Given the description of an element on the screen output the (x, y) to click on. 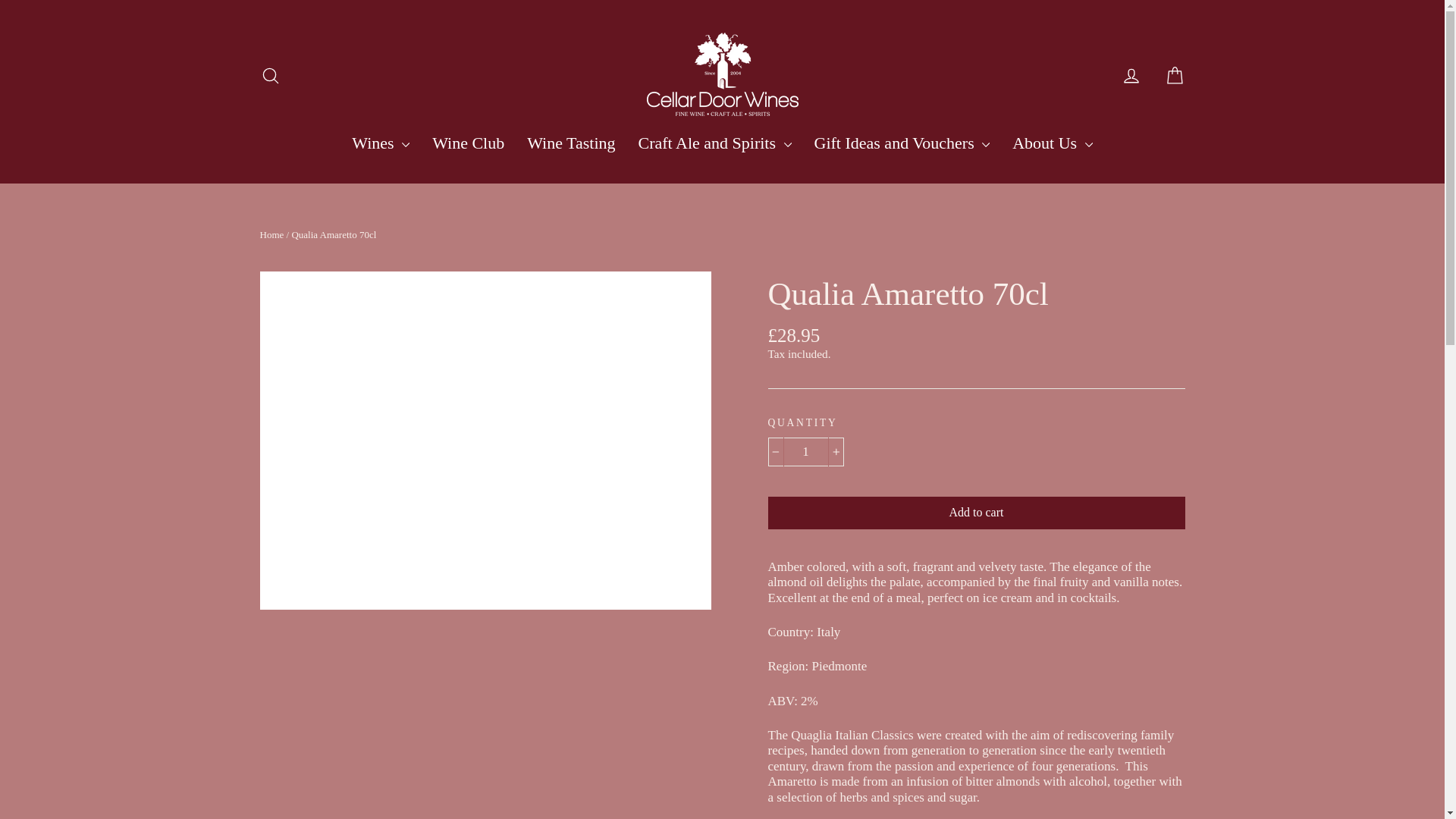
Back to the frontpage (271, 234)
1 (805, 451)
